Given the description of an element on the screen output the (x, y) to click on. 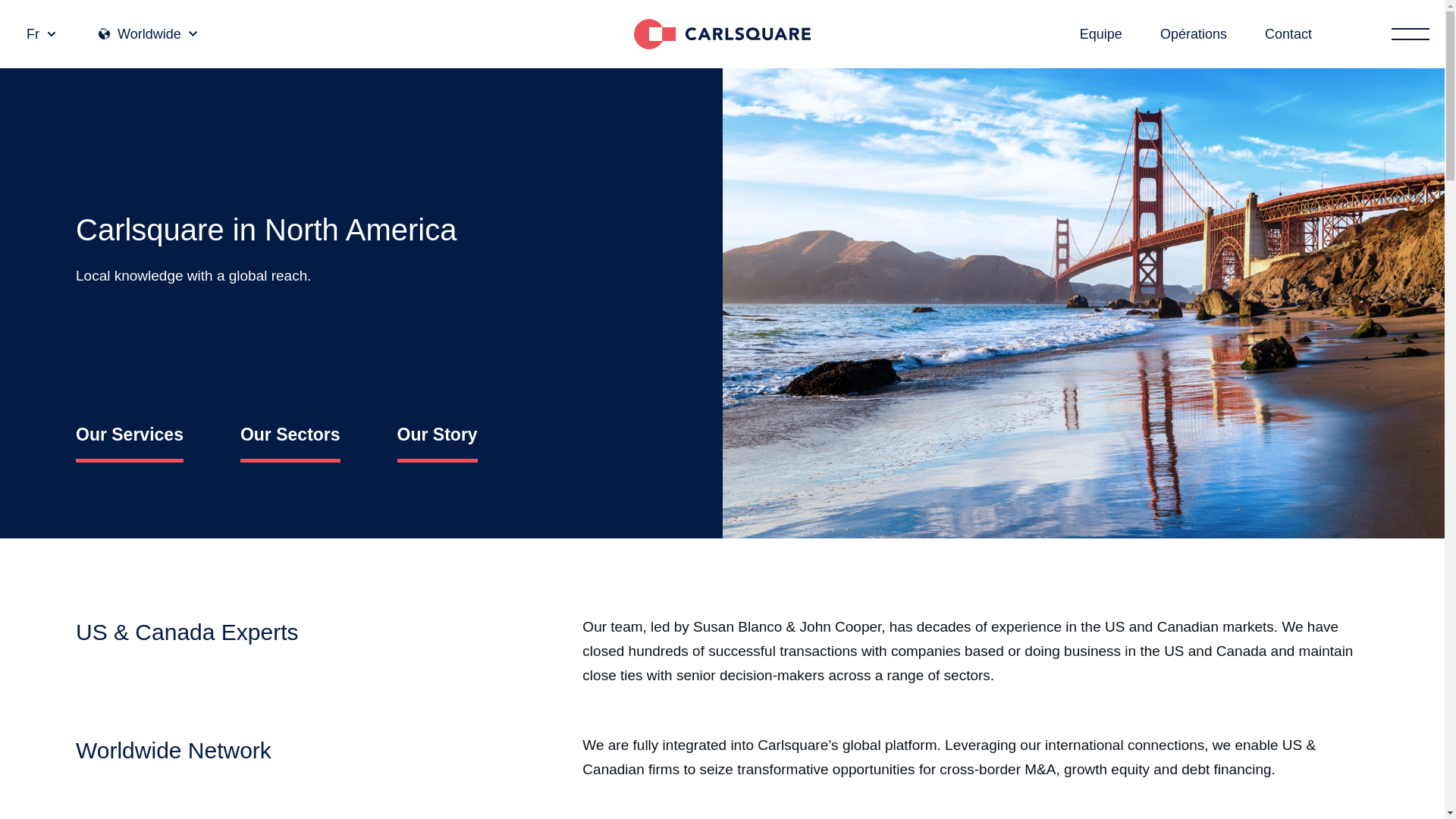
Our Story (437, 434)
Fr (41, 33)
Our Services (129, 434)
Our Sectors (290, 434)
